Given the description of an element on the screen output the (x, y) to click on. 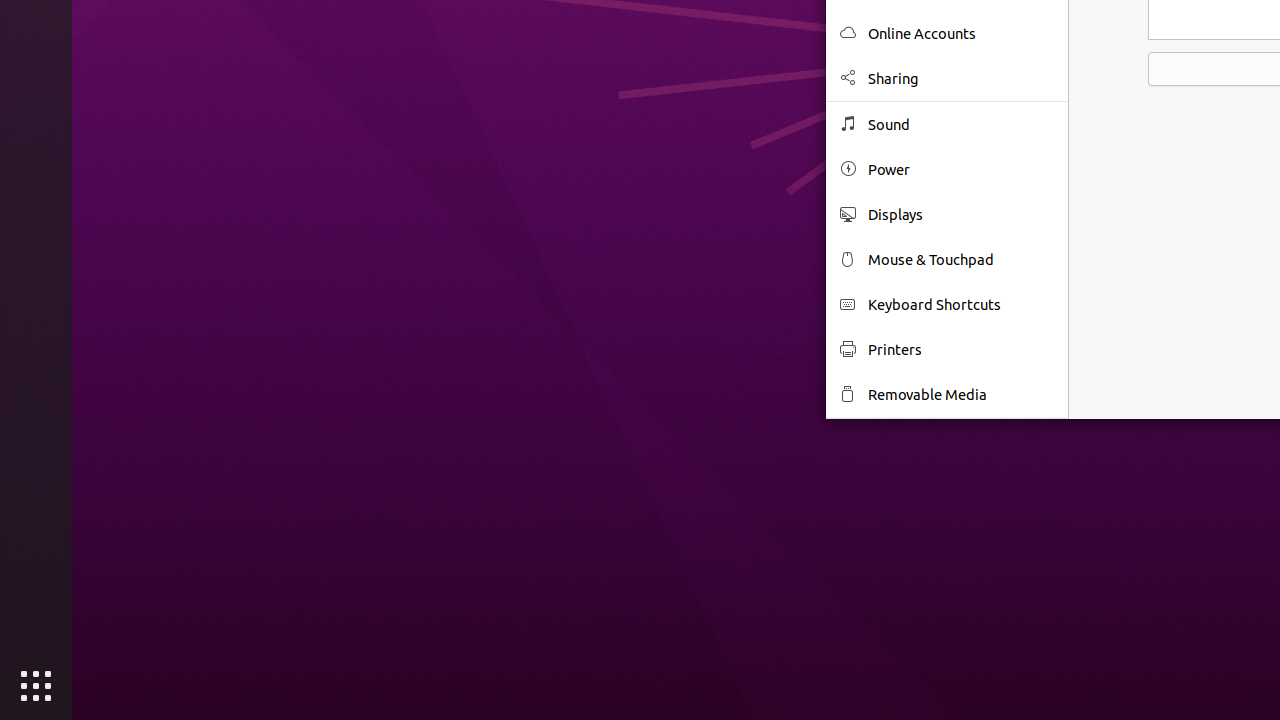
Sharing Element type: label (961, 78)
Online Accounts Element type: label (961, 33)
Displays Element type: label (961, 214)
Printers Element type: label (961, 349)
Removable Media Element type: label (961, 394)
